Given the description of an element on the screen output the (x, y) to click on. 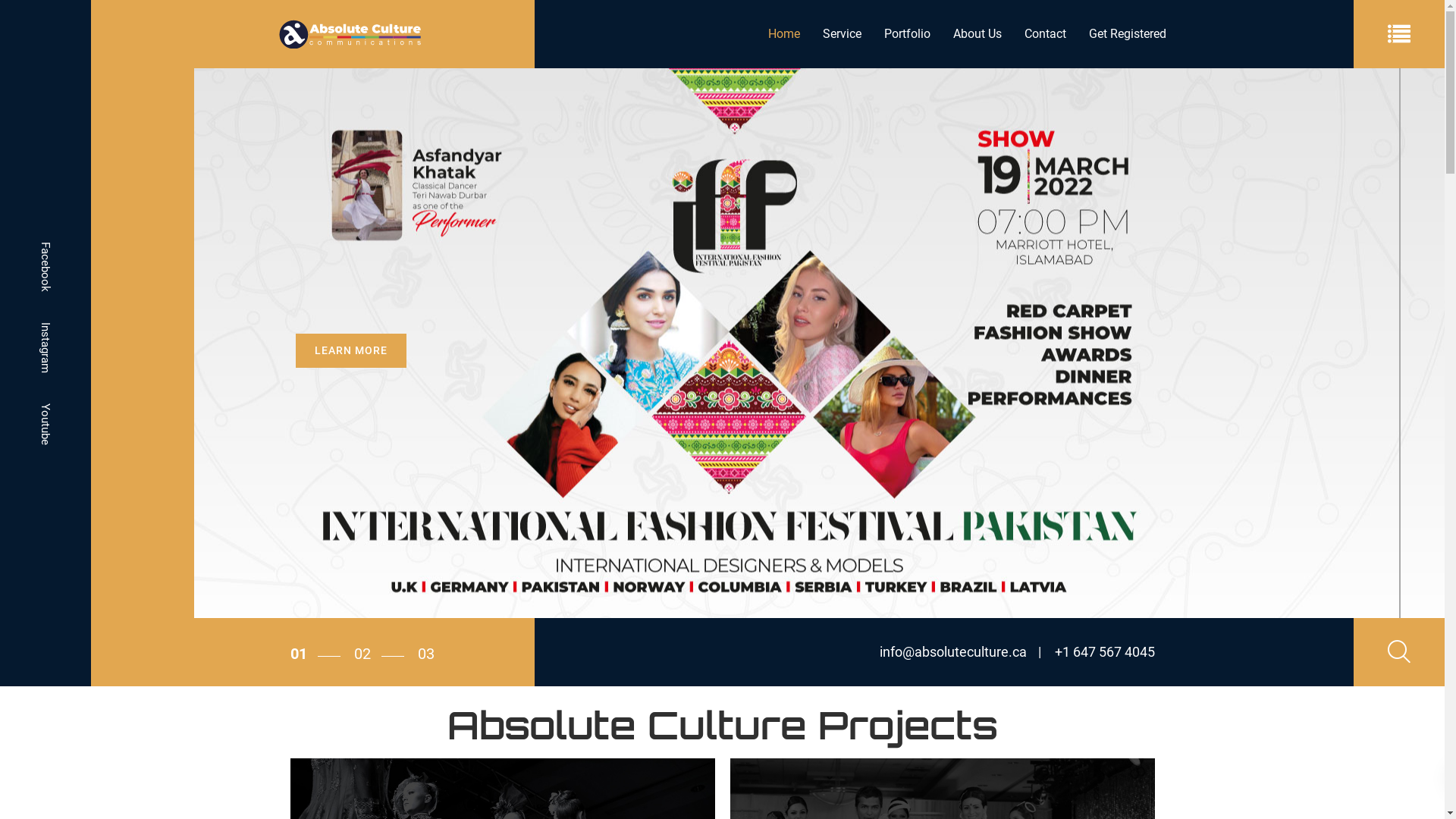
+1 647 567 4045 Element type: text (1095, 652)
Instagram Element type: text (45, 346)
Get Registered Element type: text (1120, 34)
About Us Element type: text (977, 34)
info@absoluteculture.ca Element type: text (952, 652)
Home Element type: text (783, 34)
LEARN MORE Element type: text (350, 390)
Youtube Element type: text (45, 424)
Service Element type: text (841, 34)
Portfolio Element type: text (906, 34)
Facebook Element type: text (45, 266)
Contact Element type: text (1045, 34)
Absolute Culture Element type: hover (349, 33)
